Given the description of an element on the screen output the (x, y) to click on. 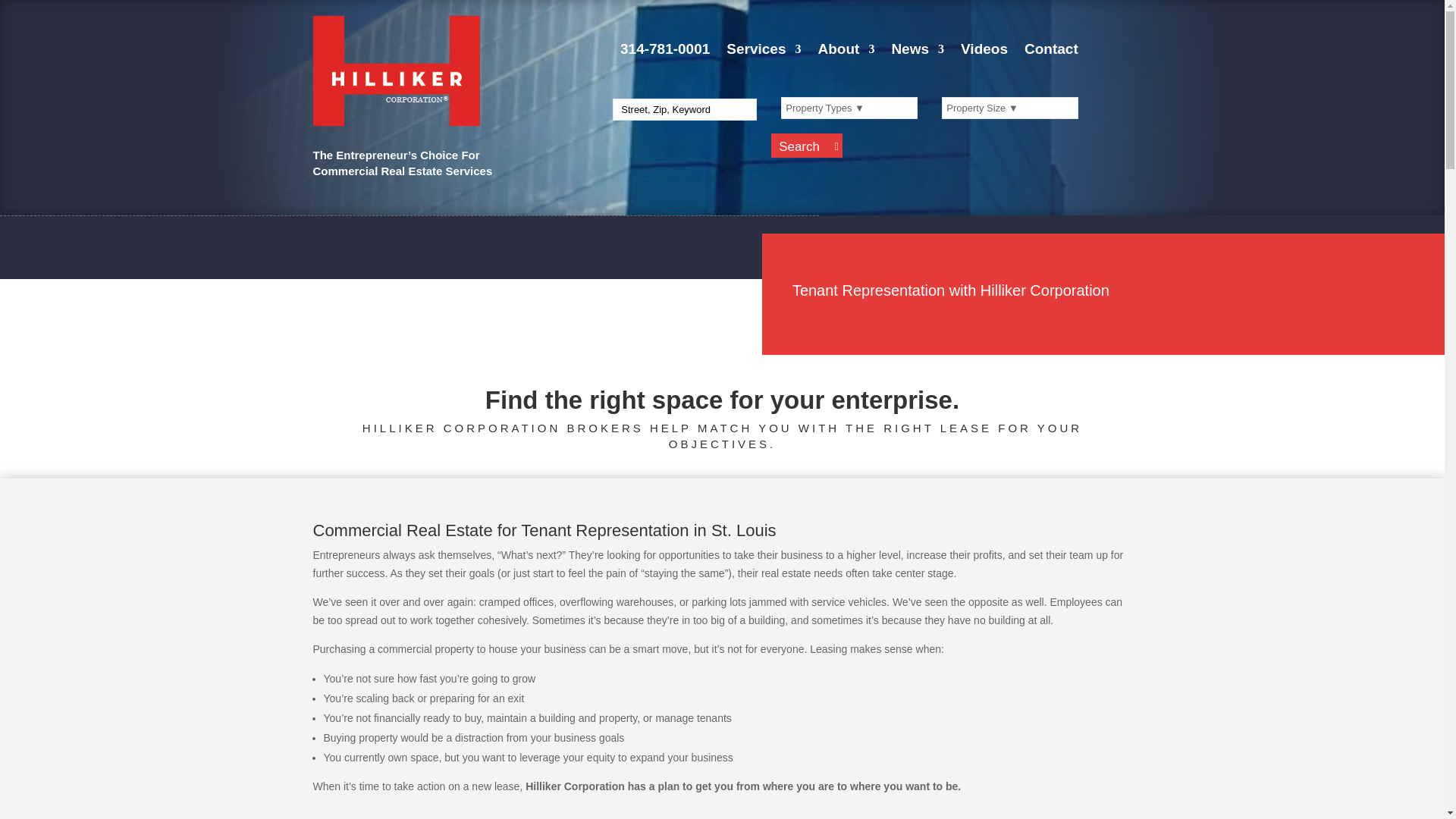
314-781-0001 (665, 52)
Videos (983, 52)
Services (763, 52)
About (846, 52)
Search (807, 146)
Contact (1051, 52)
Search (807, 146)
News (917, 52)
